Given the description of an element on the screen output the (x, y) to click on. 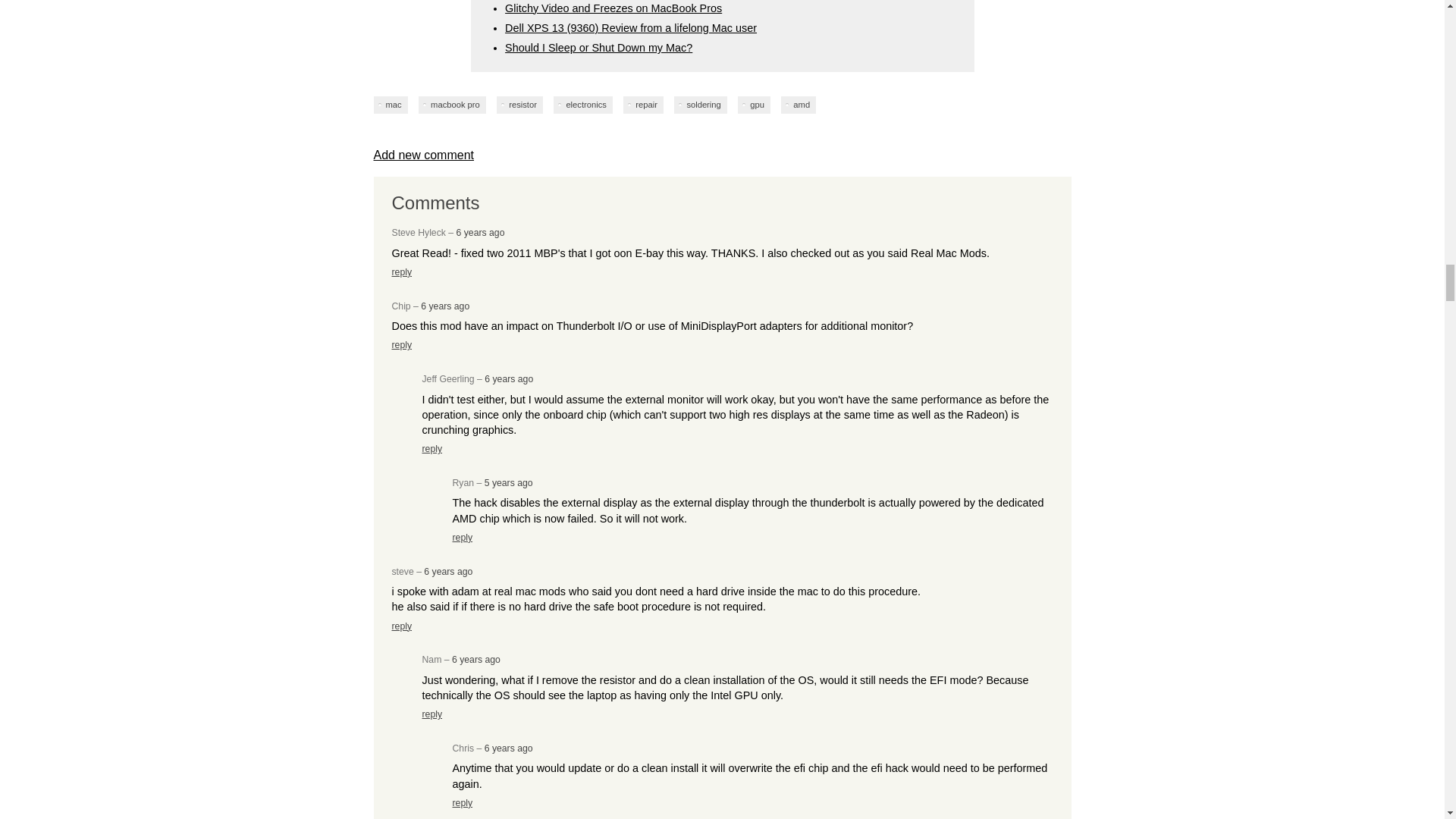
reply (401, 344)
6 years ago (481, 232)
Share your thoughts and opinions. (423, 154)
electronics (582, 104)
repair (643, 104)
Should I Sleep or Shut Down my Mac? (599, 47)
reply (401, 271)
mac (389, 104)
amd (797, 104)
soldering (700, 104)
